Given the description of an element on the screen output the (x, y) to click on. 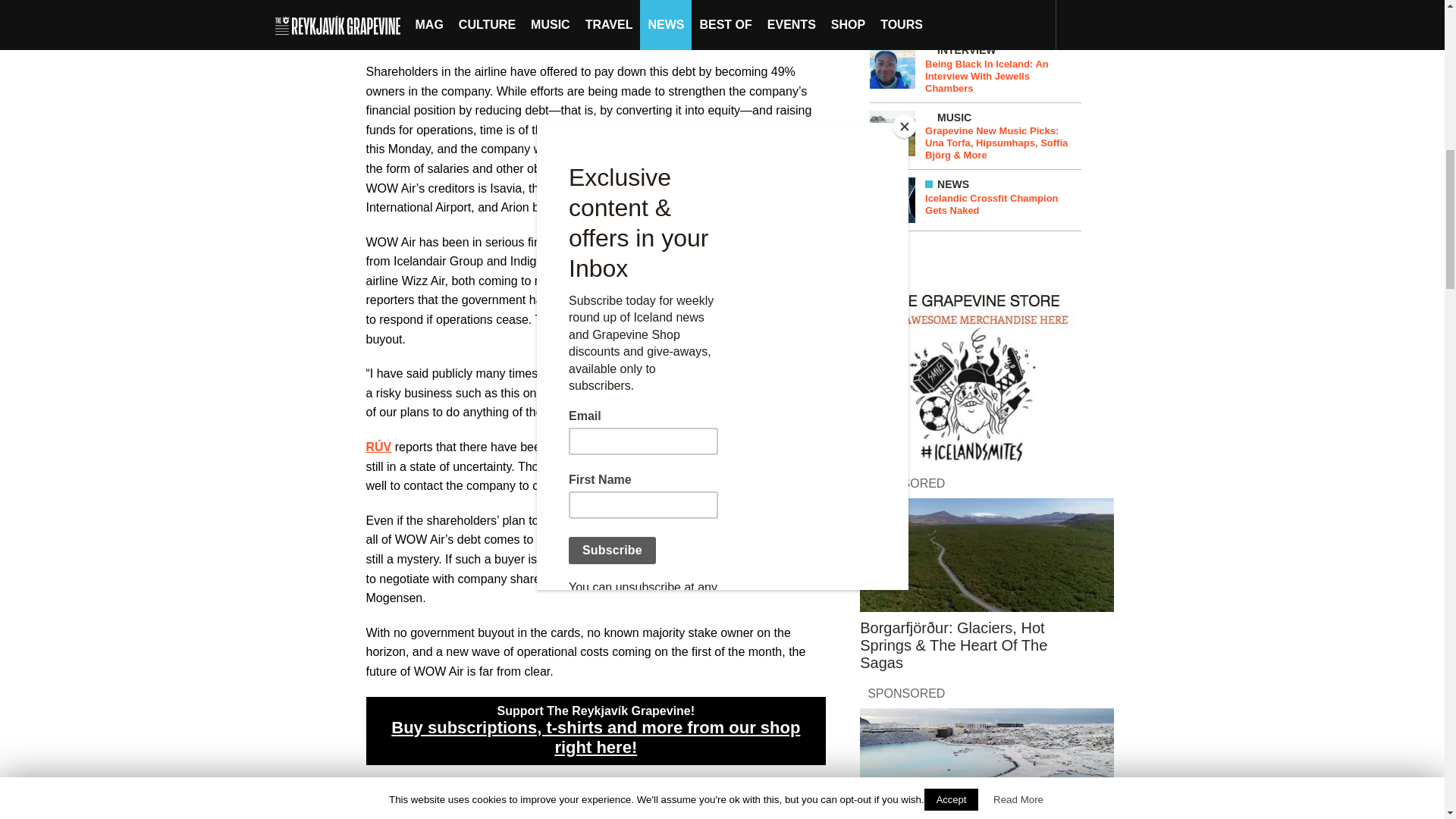
Kjarninn (579, 392)
Stundin (677, 168)
